Given the description of an element on the screen output the (x, y) to click on. 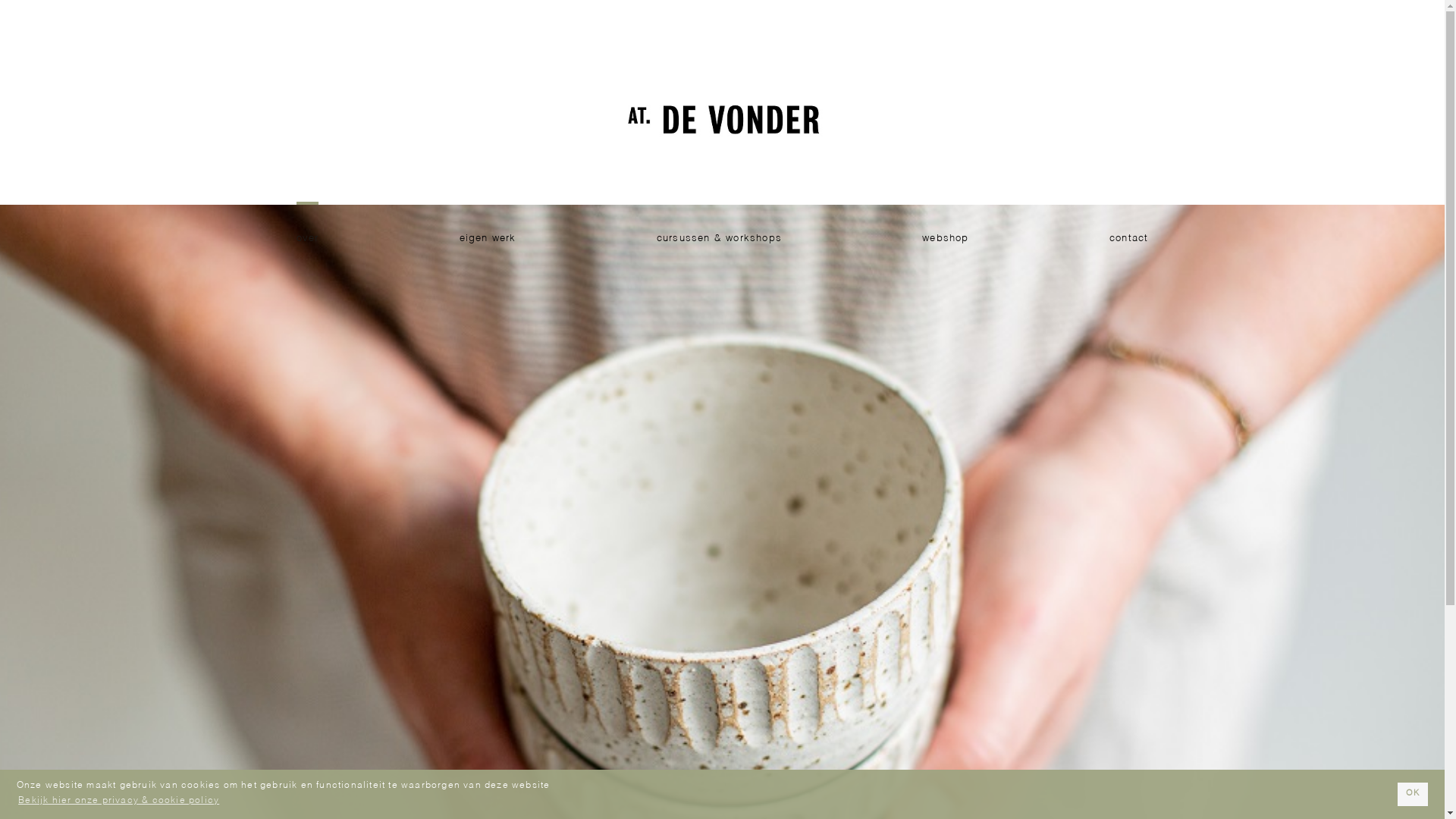
webshop Element type: text (945, 238)
Bekijk hier onze privacy & cookie policy Element type: text (118, 800)
cursussen & workshops Element type: text (718, 238)
contact Element type: text (1128, 238)
over Element type: text (307, 238)
OK Element type: text (1412, 794)
eigen werk Element type: text (487, 238)
